Given the description of an element on the screen output the (x, y) to click on. 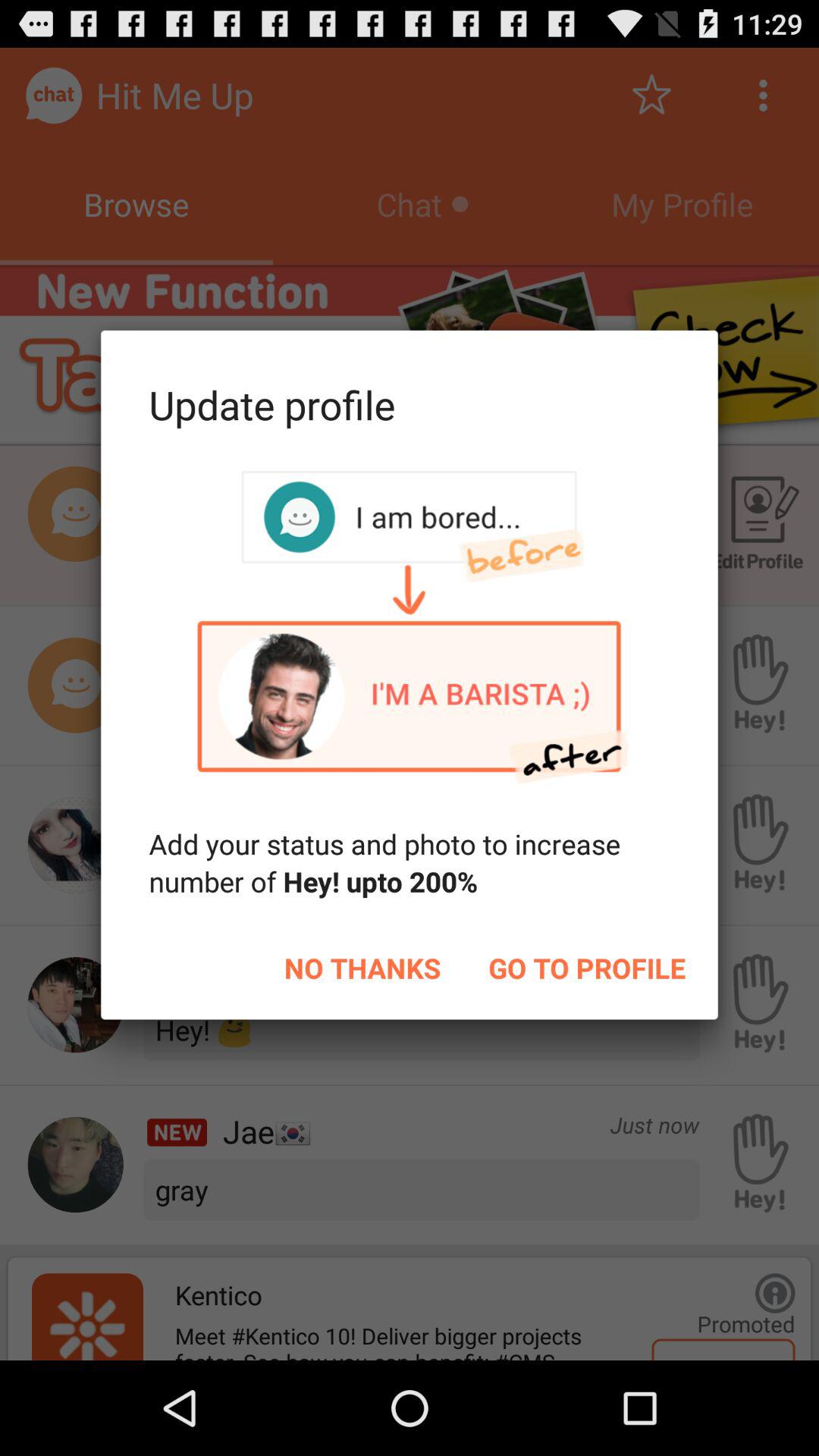
turn on item to the right of no thanks icon (586, 967)
